Given the description of an element on the screen output the (x, y) to click on. 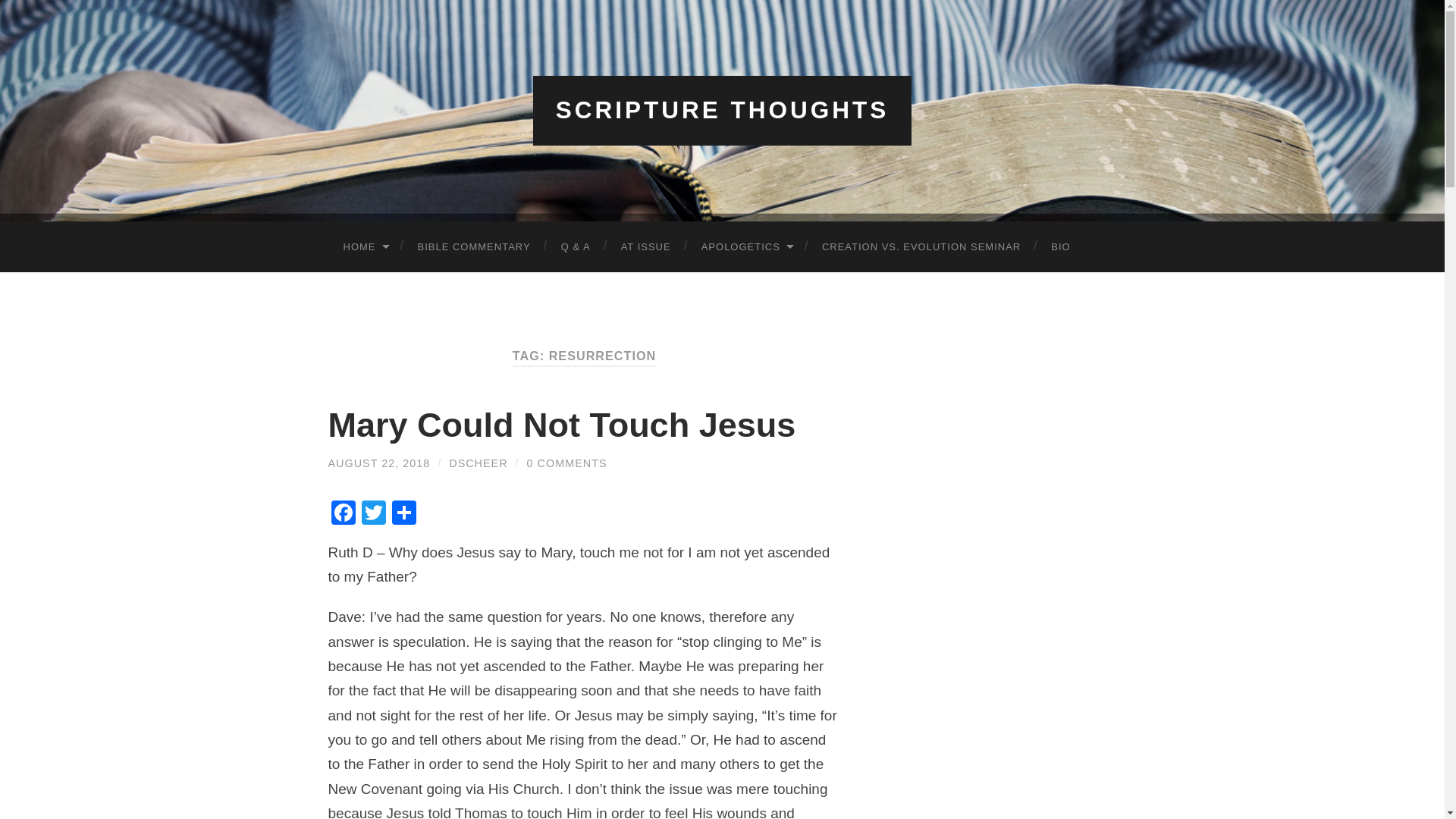
Facebook (342, 514)
Facebook (342, 514)
SCRIPTURE THOUGHTS (722, 109)
Posts by dscheer (477, 463)
0 COMMENTS (567, 463)
About David (1059, 246)
DSCHEER (477, 463)
CREATION VS. EVOLUTION SEMINAR (920, 246)
AT ISSUE (645, 246)
Twitter (373, 514)
HOME (364, 246)
Mary Could Not Touch Jesus (560, 424)
BIO (1059, 246)
AUGUST 22, 2018 (378, 463)
BIBLE COMMENTARY (472, 246)
